Given the description of an element on the screen output the (x, y) to click on. 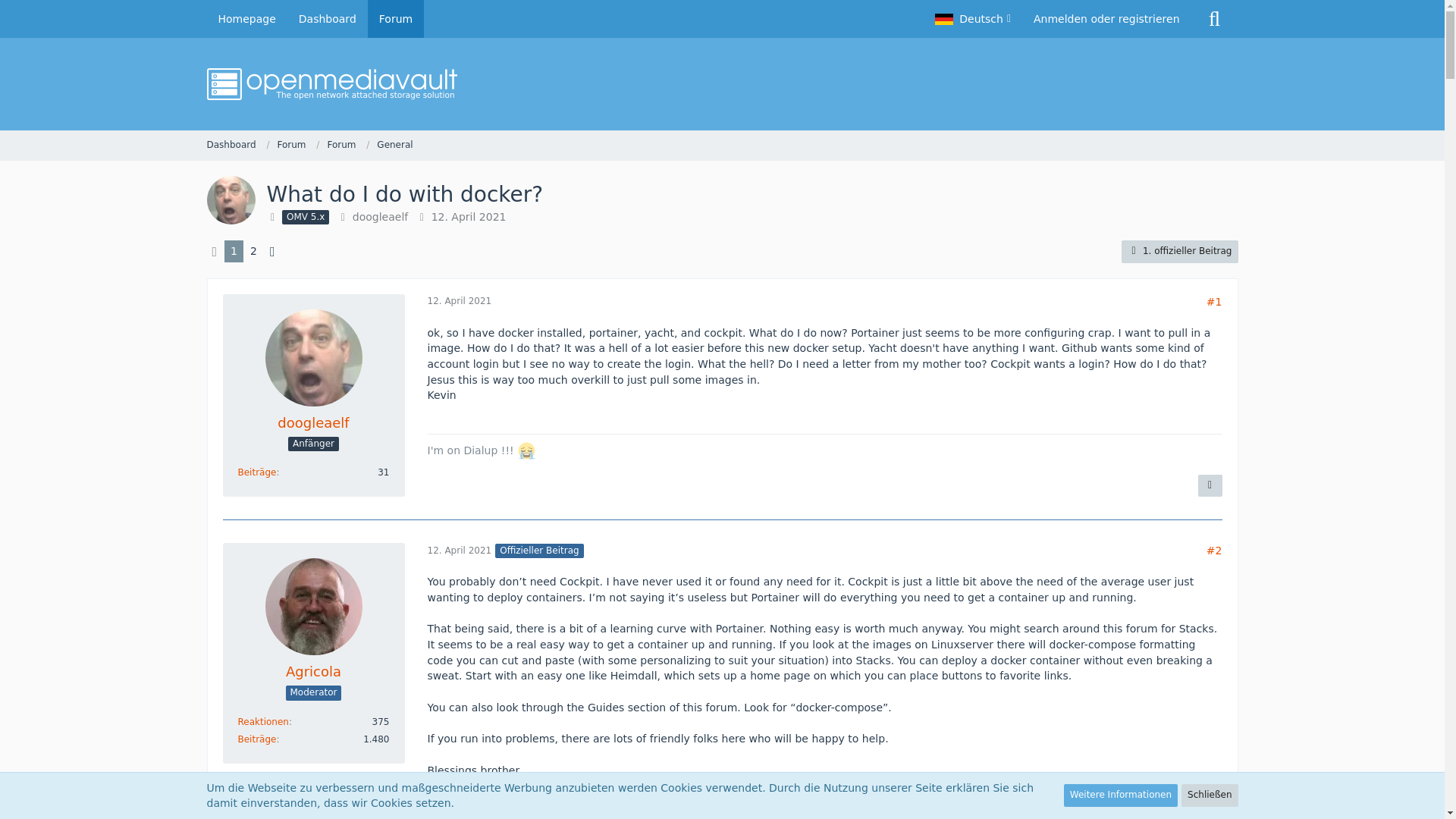
12. April 2021, 22:34 (460, 550)
doogleaelf (379, 216)
12. April 2021, 22:14 (460, 300)
Deutsch (972, 18)
12. April 2021 (460, 300)
Forum (347, 145)
Reaktionen (263, 721)
12. April 2021 (460, 550)
1. offizieller Beitrag (1179, 251)
Forum (340, 144)
Forum (297, 145)
12. April 2021 (468, 216)
General (394, 144)
System Backup (472, 808)
Homepage (246, 18)
